Given the description of an element on the screen output the (x, y) to click on. 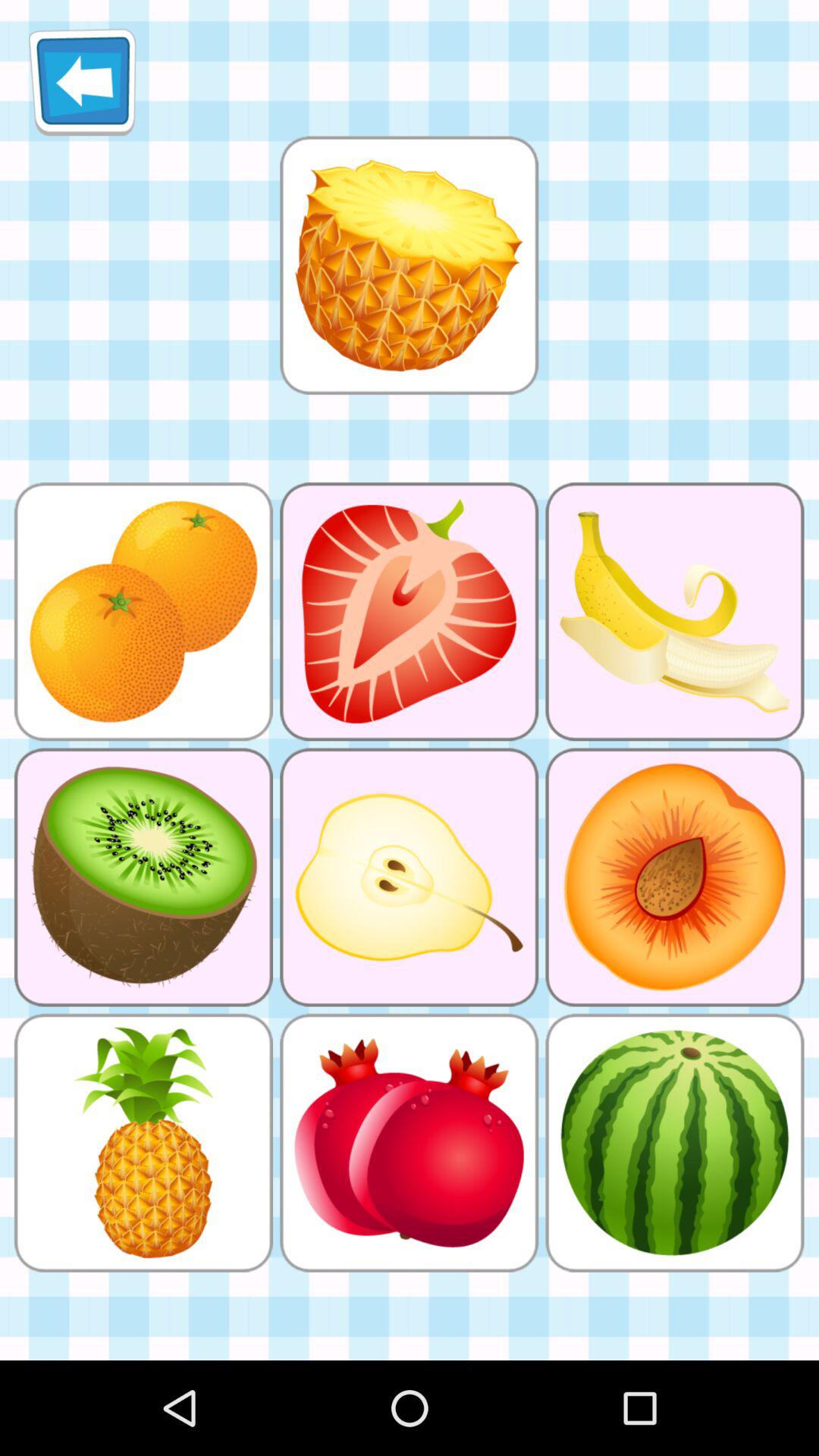
similar object (409, 265)
